Given the description of an element on the screen output the (x, y) to click on. 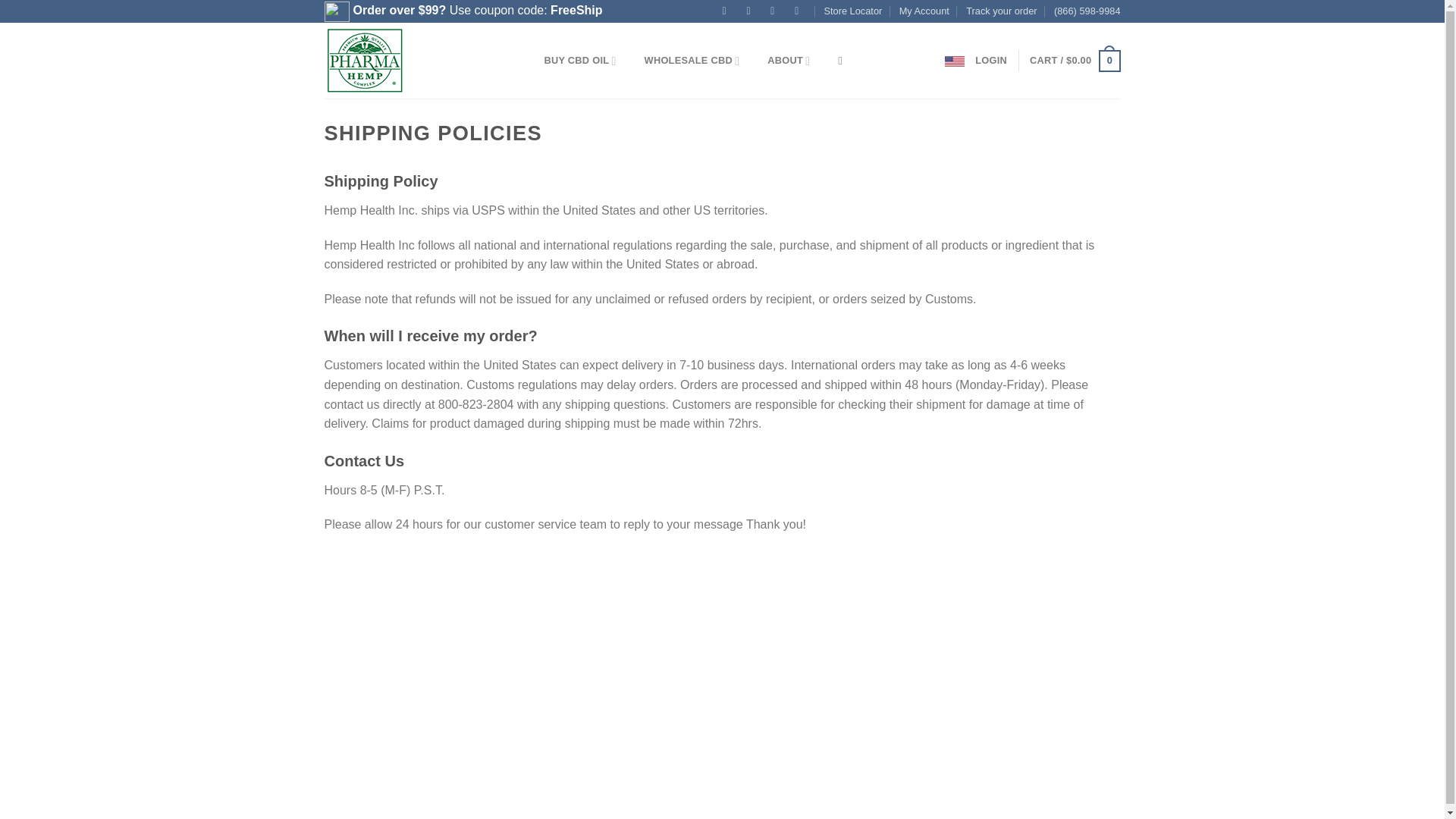
Follow on Twitter (772, 11)
Follow on Facebook (724, 11)
Send us an email (797, 11)
Hemp Health Inc - Pharma Hemp Complex CBD Products (411, 60)
WHOLESALE CBD (692, 60)
Store Locator (853, 11)
Cart (1074, 61)
BUY CBD OIL (579, 60)
Track your order (1001, 11)
My Account (924, 11)
